Given the description of an element on the screen output the (x, y) to click on. 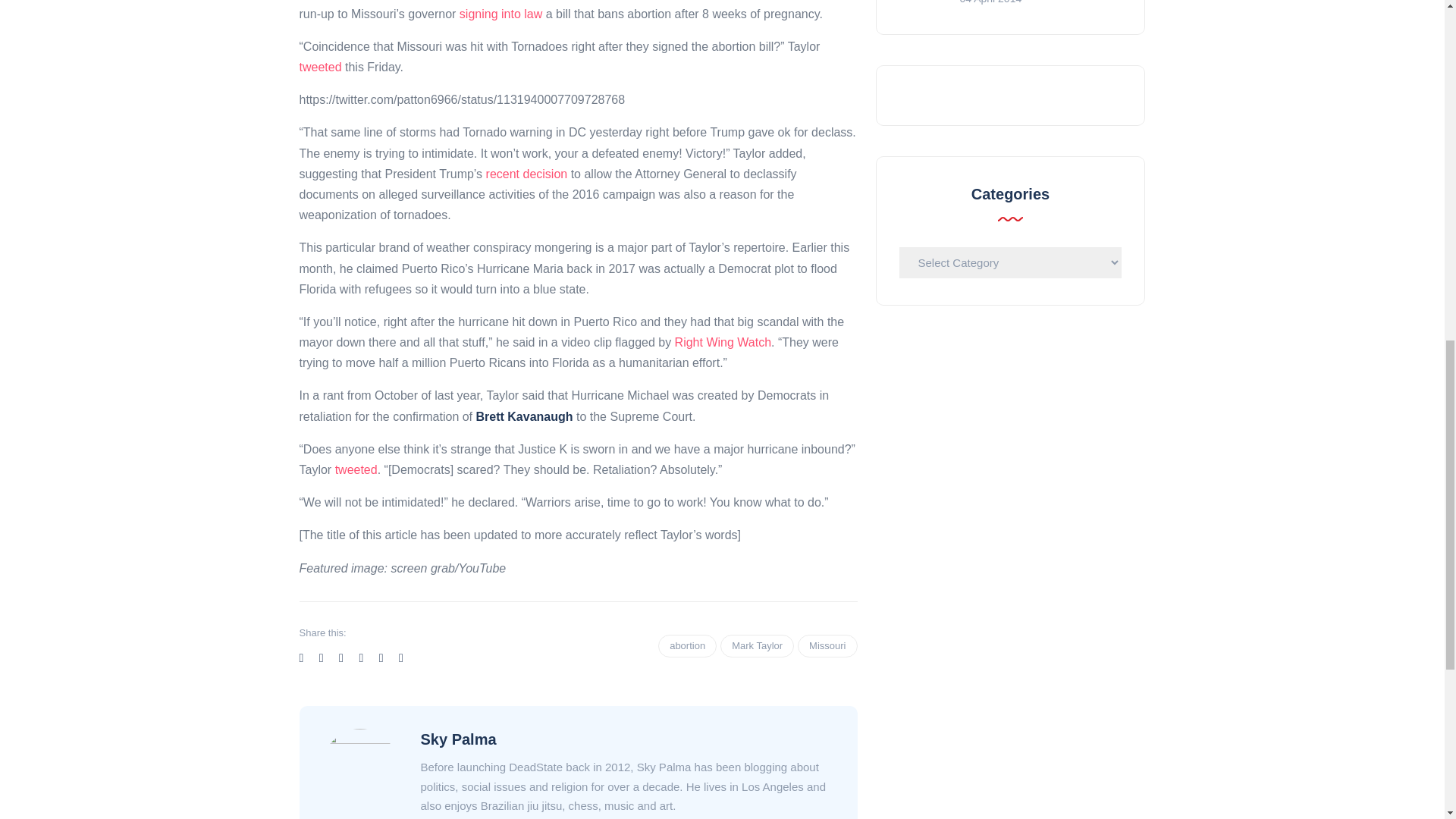
Mark Taylor (756, 645)
tweeted (355, 469)
recent decision (526, 173)
signing into law (500, 13)
tweeted (319, 66)
Sky Palma (458, 739)
abortion (687, 645)
Missouri (827, 645)
Right Wing Watch (723, 341)
